Given the description of an element on the screen output the (x, y) to click on. 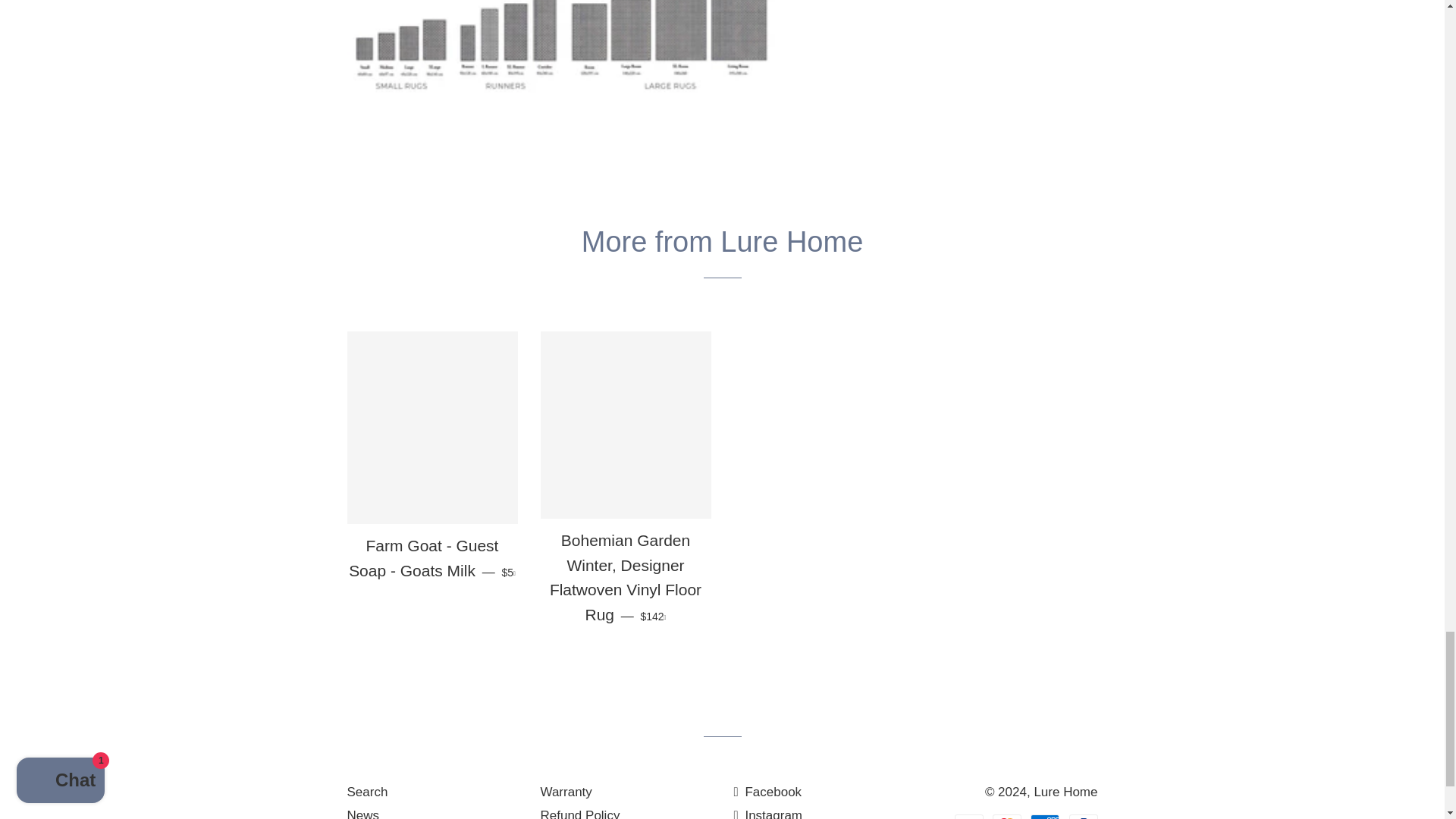
Mastercard (1007, 816)
Visa (969, 816)
Lure Home on Facebook (767, 791)
American Express (1044, 816)
Lure Home on Instagram (768, 813)
PayPal (1082, 816)
